Given the description of an element on the screen output the (x, y) to click on. 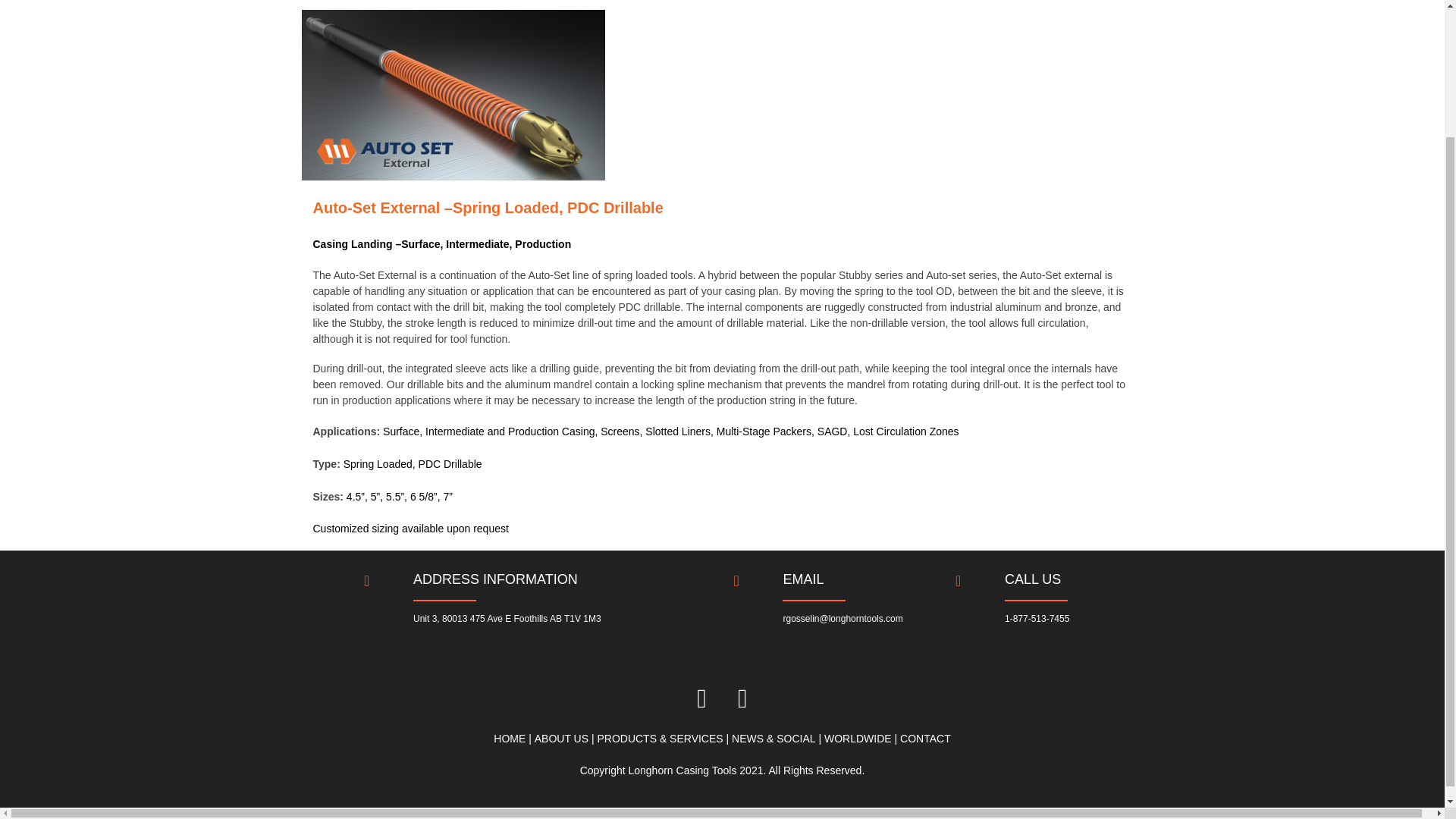
WORLDWIDE (857, 738)
HOME (509, 738)
ABOUT US (561, 738)
CONTACT (924, 738)
